Given the description of an element on the screen output the (x, y) to click on. 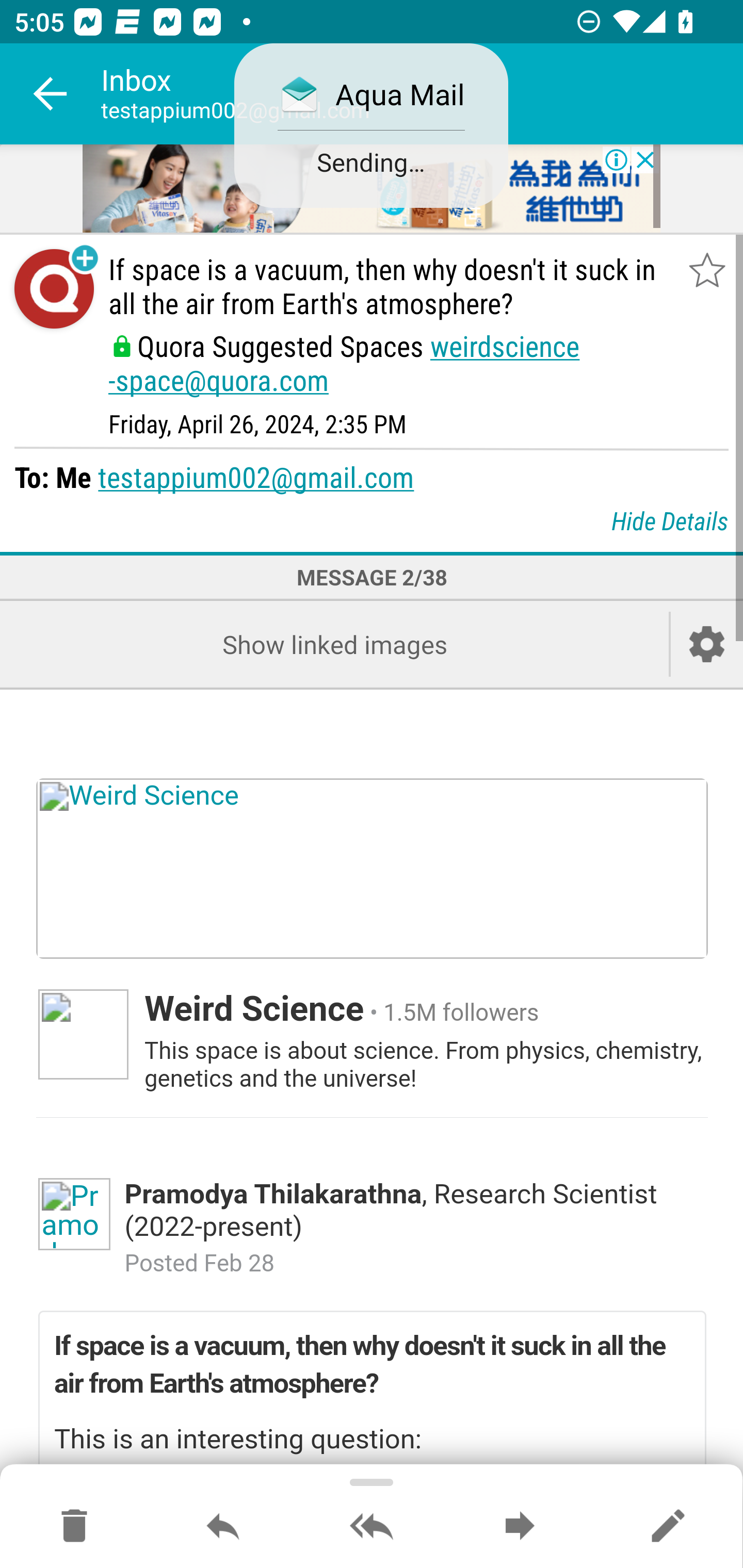
Navigate up (50, 93)
Inbox testappium002@gmail.com (422, 93)
BOTG-bg-320x50-v2 (371, 189)
Sender contact button (53, 289)
Show linked images (334, 643)
Account setup (706, 643)
Pramodya Thilakarathna (74, 1214)
Pramodya Thilakarathna (272, 1193)
Posted Feb 28 (199, 1263)
Move to Deleted (74, 1527)
Reply (222, 1527)
Reply all (371, 1527)
Forward (519, 1527)
Reply as new (667, 1527)
